Given the description of an element on the screen output the (x, y) to click on. 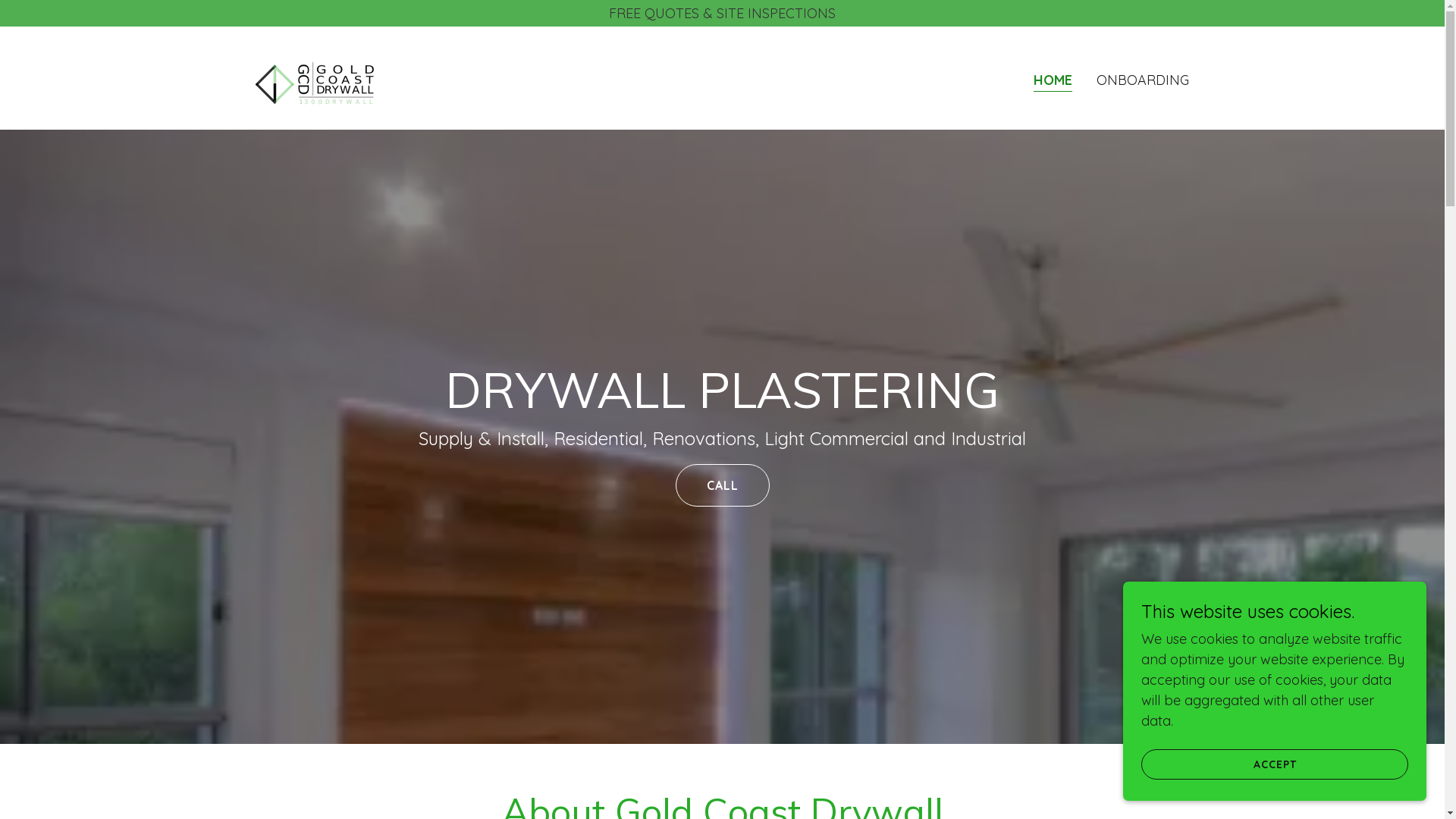
CALL Element type: text (721, 485)
FREE QUOTES & SITE INSPECTIONS Element type: text (722, 13)
ONBOARDING Element type: text (1142, 80)
HOME Element type: text (1052, 81)
Gold Coast Drywall Element type: hover (317, 76)
ACCEPT Element type: text (1274, 764)
